Given the description of an element on the screen output the (x, y) to click on. 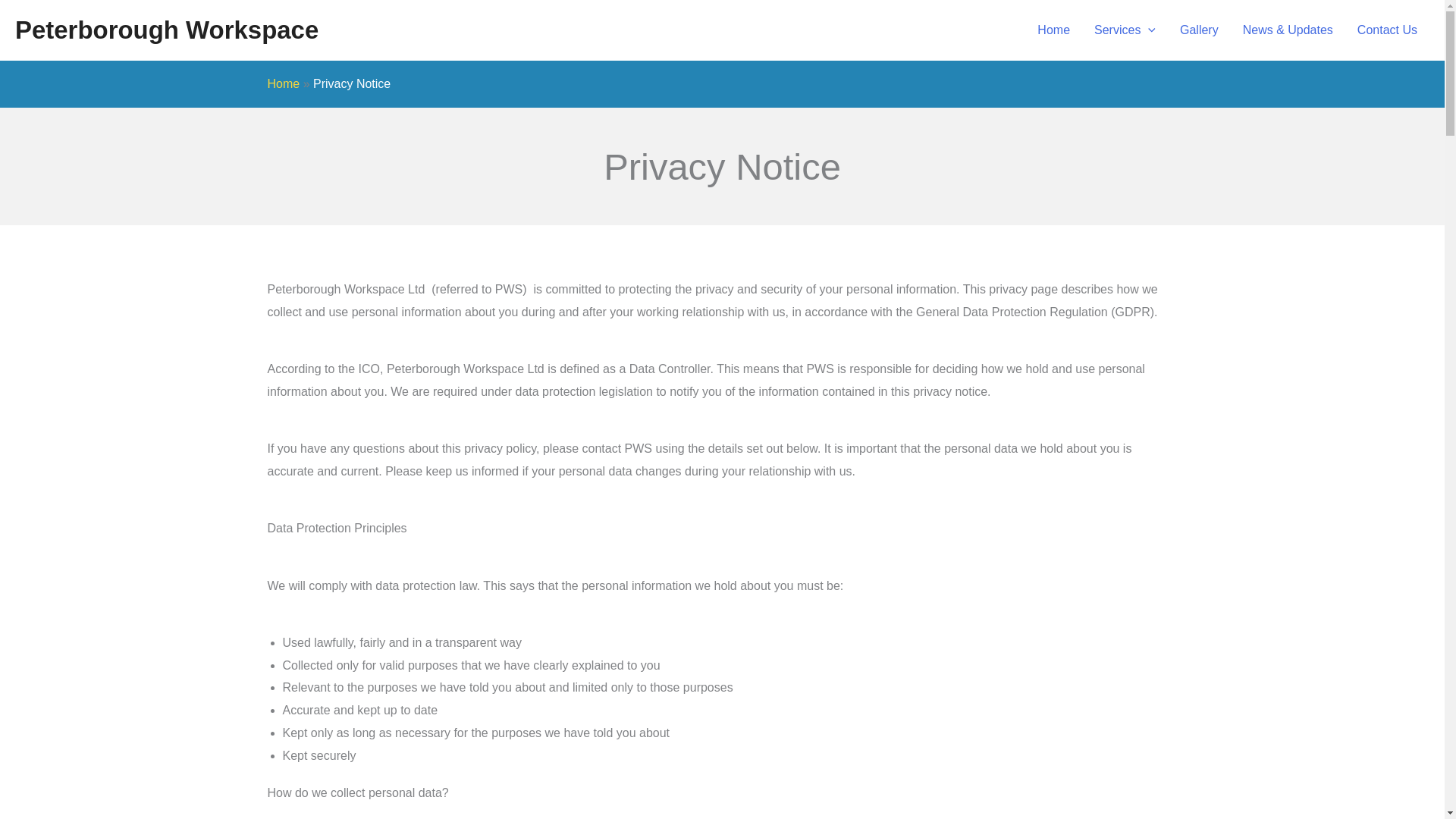
Home (1053, 30)
Home (282, 83)
Peterborough Workspace (166, 29)
Services (1124, 30)
Contact Us (1387, 30)
Gallery (1198, 30)
